Given the description of an element on the screen output the (x, y) to click on. 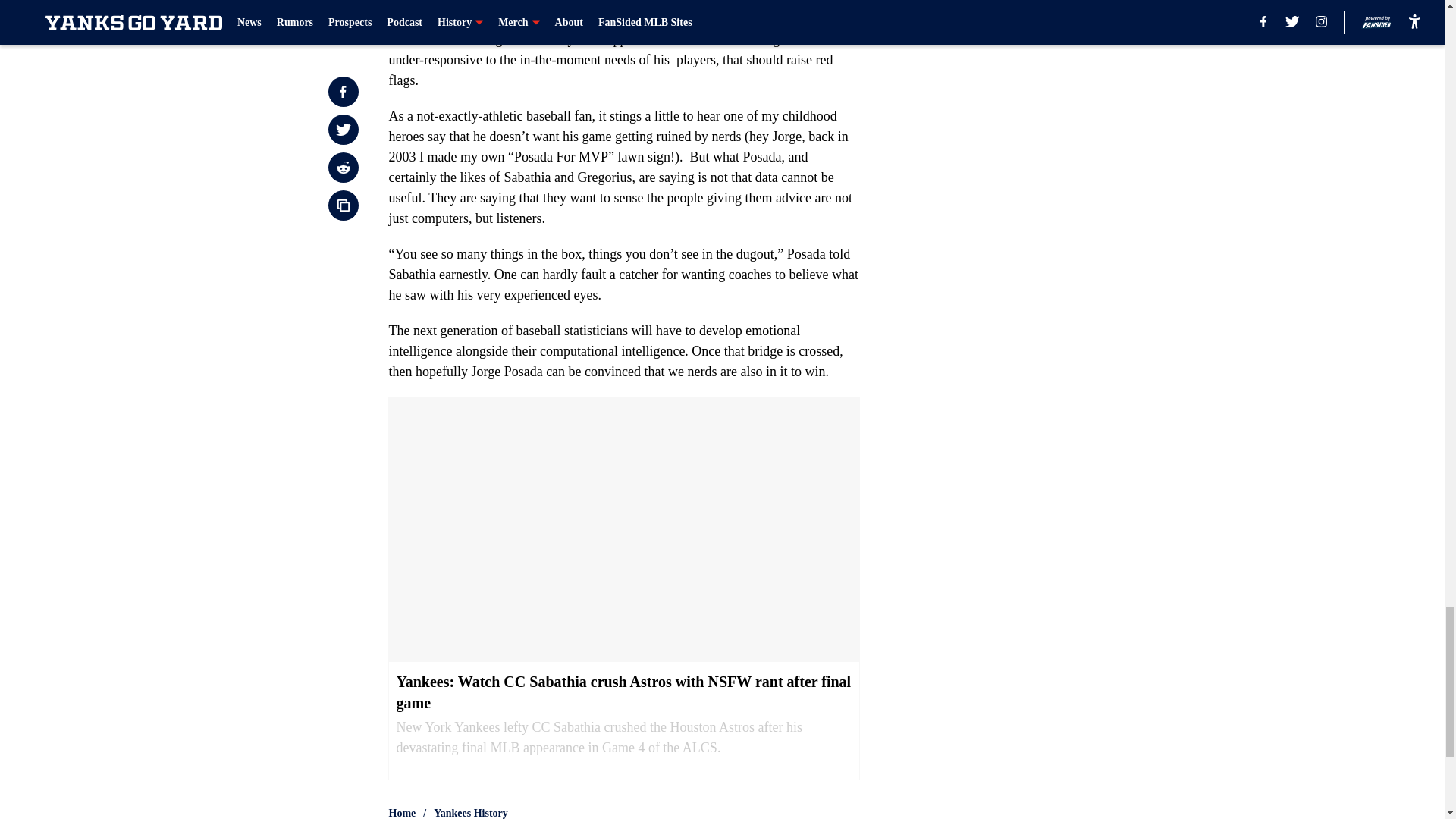
Yankees History (470, 812)
Home (401, 812)
